Given the description of an element on the screen output the (x, y) to click on. 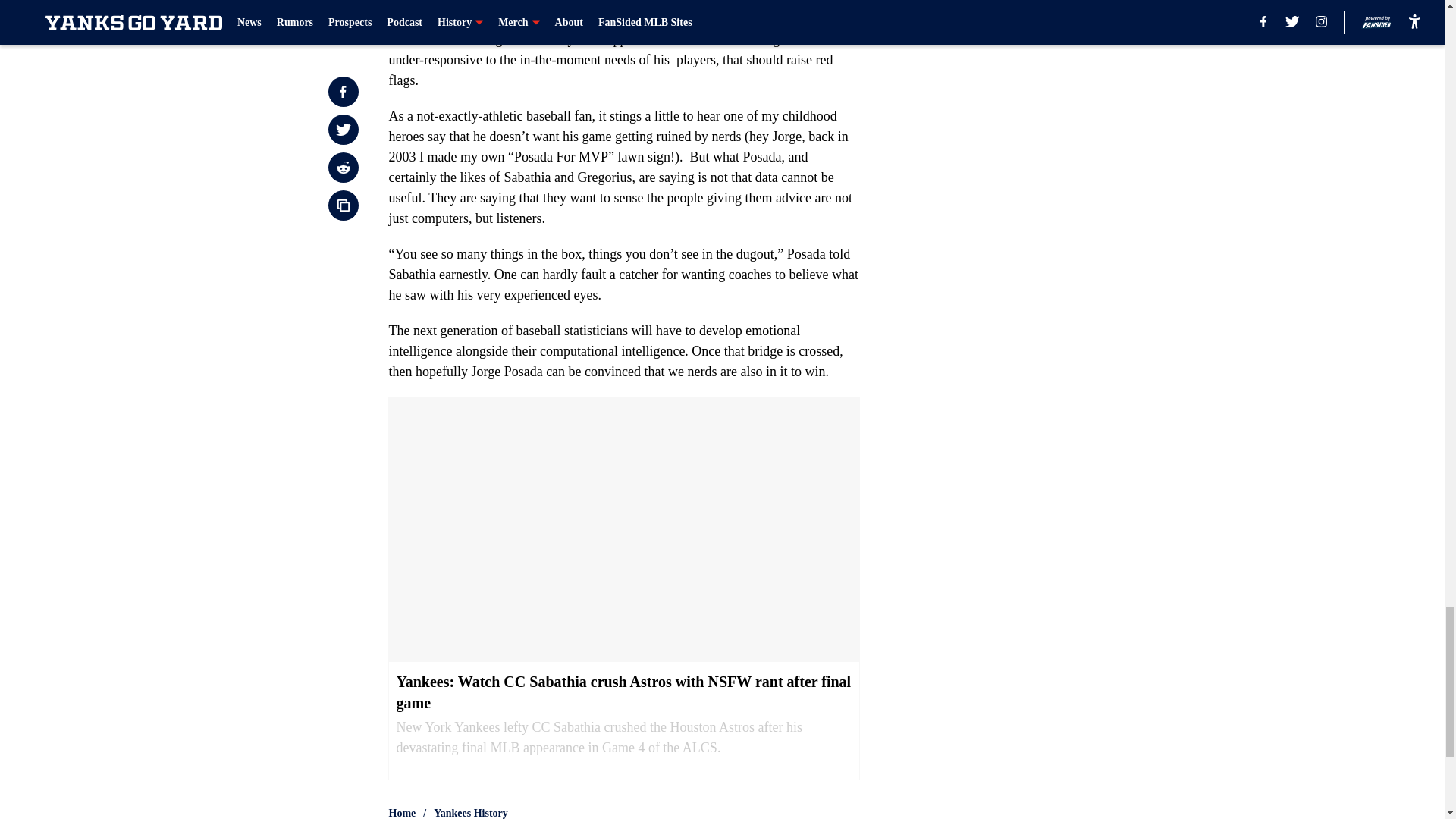
Yankees History (470, 812)
Home (401, 812)
